Given the description of an element on the screen output the (x, y) to click on. 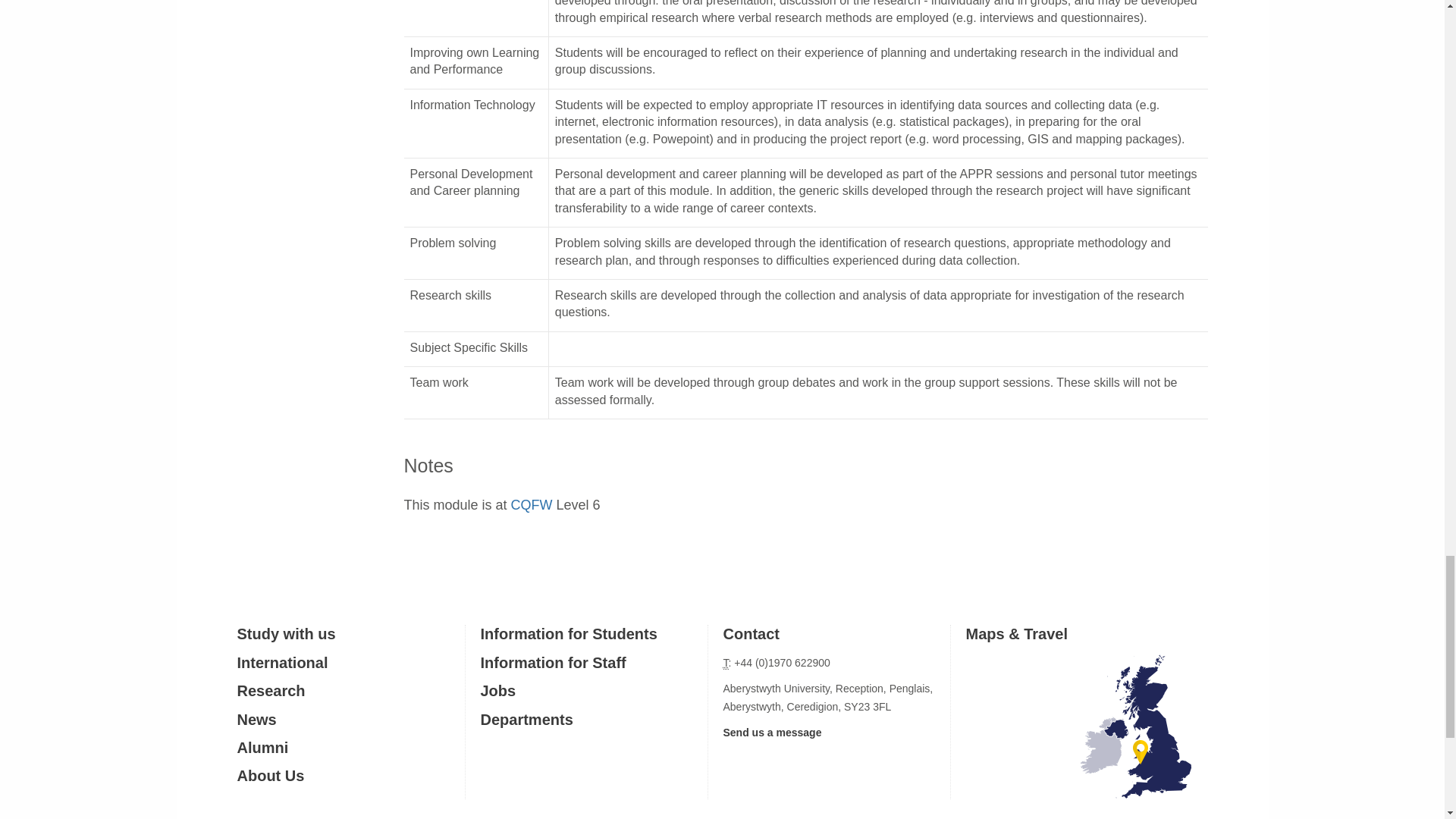
Telephone (726, 662)
